Given the description of an element on the screen output the (x, y) to click on. 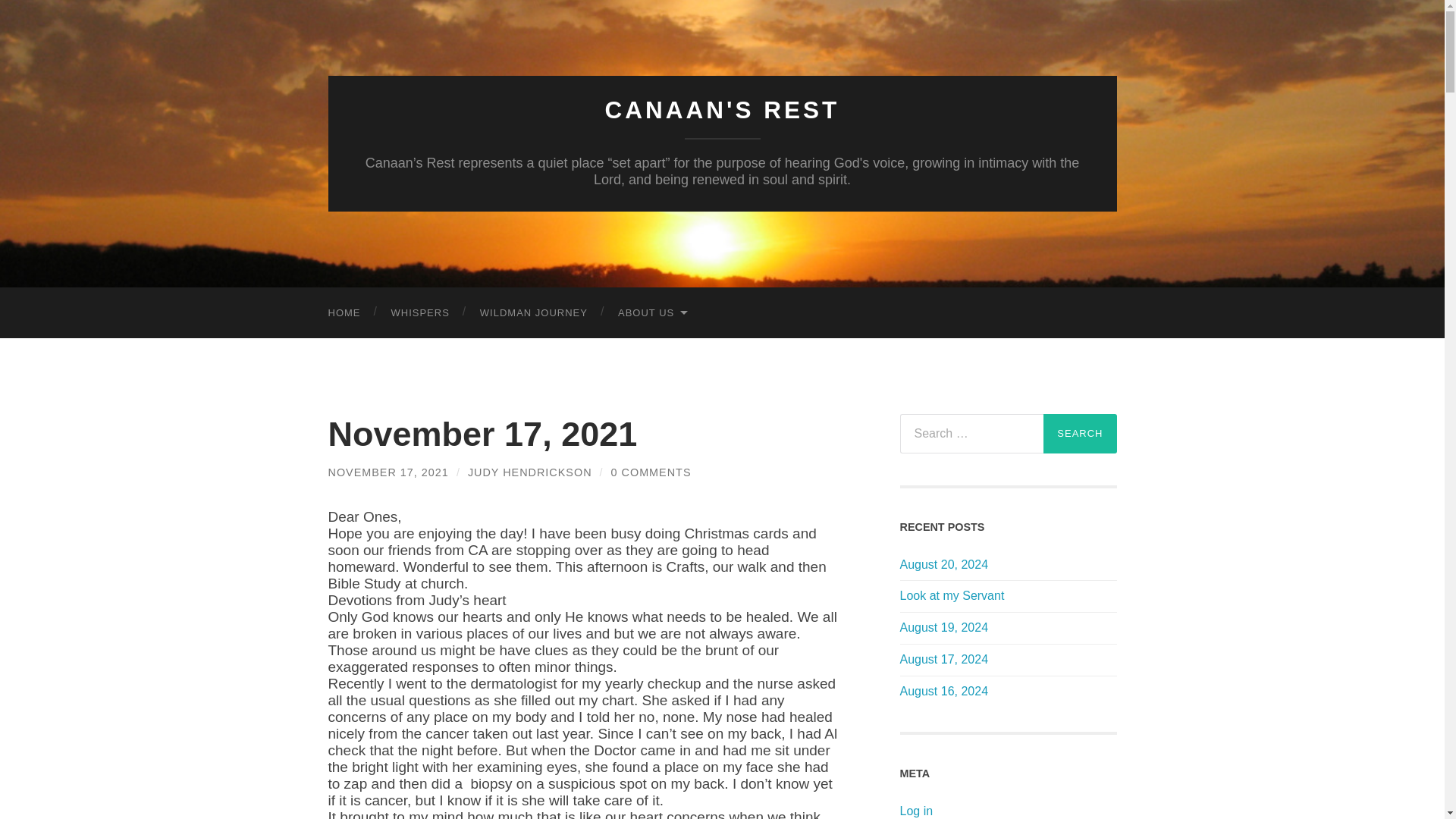
August 19, 2024 (1007, 627)
August 16, 2024 (1007, 691)
Search (1079, 433)
August 20, 2024 (1007, 565)
Search (1079, 433)
Log in (916, 810)
August 17, 2024 (1007, 659)
JUDY HENDRICKSON (529, 471)
NOVEMBER 17, 2021 (387, 471)
HOME (344, 311)
